Given the description of an element on the screen output the (x, y) to click on. 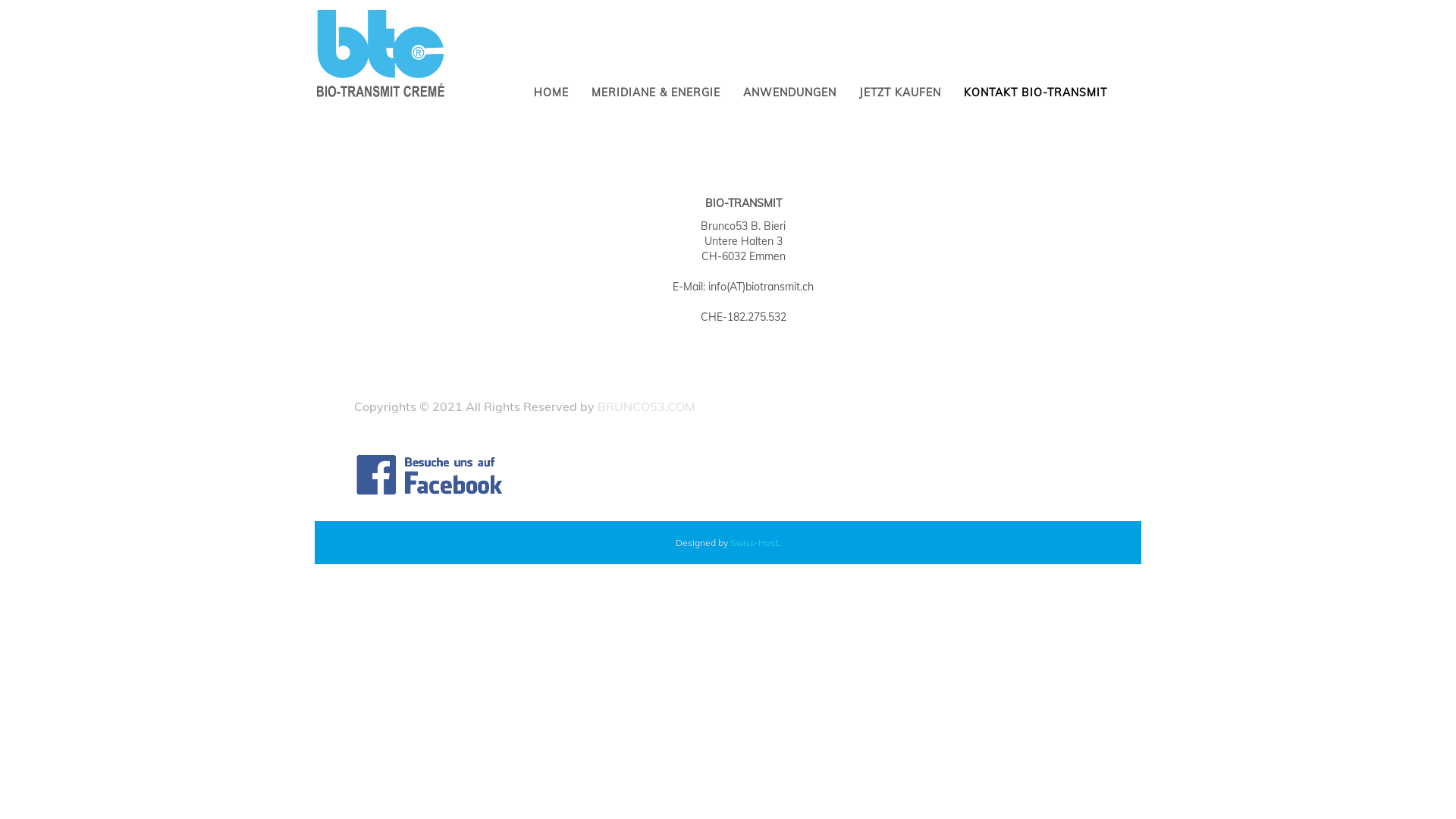
JETZT KAUFEN Element type: text (899, 92)
BIO-TRANSMIT AUF FACEBOOK Element type: hover (429, 473)
MERIDIANE & ENERGIE Element type: text (655, 92)
BRUNCO53.COM Element type: text (646, 406)
KONTAKT BIO-TRANSMIT Element type: text (1035, 92)
Swiss-Host Element type: text (754, 542)
ANWENDUNGEN Element type: text (789, 92)
HOME Element type: text (551, 92)
